Given the description of an element on the screen output the (x, y) to click on. 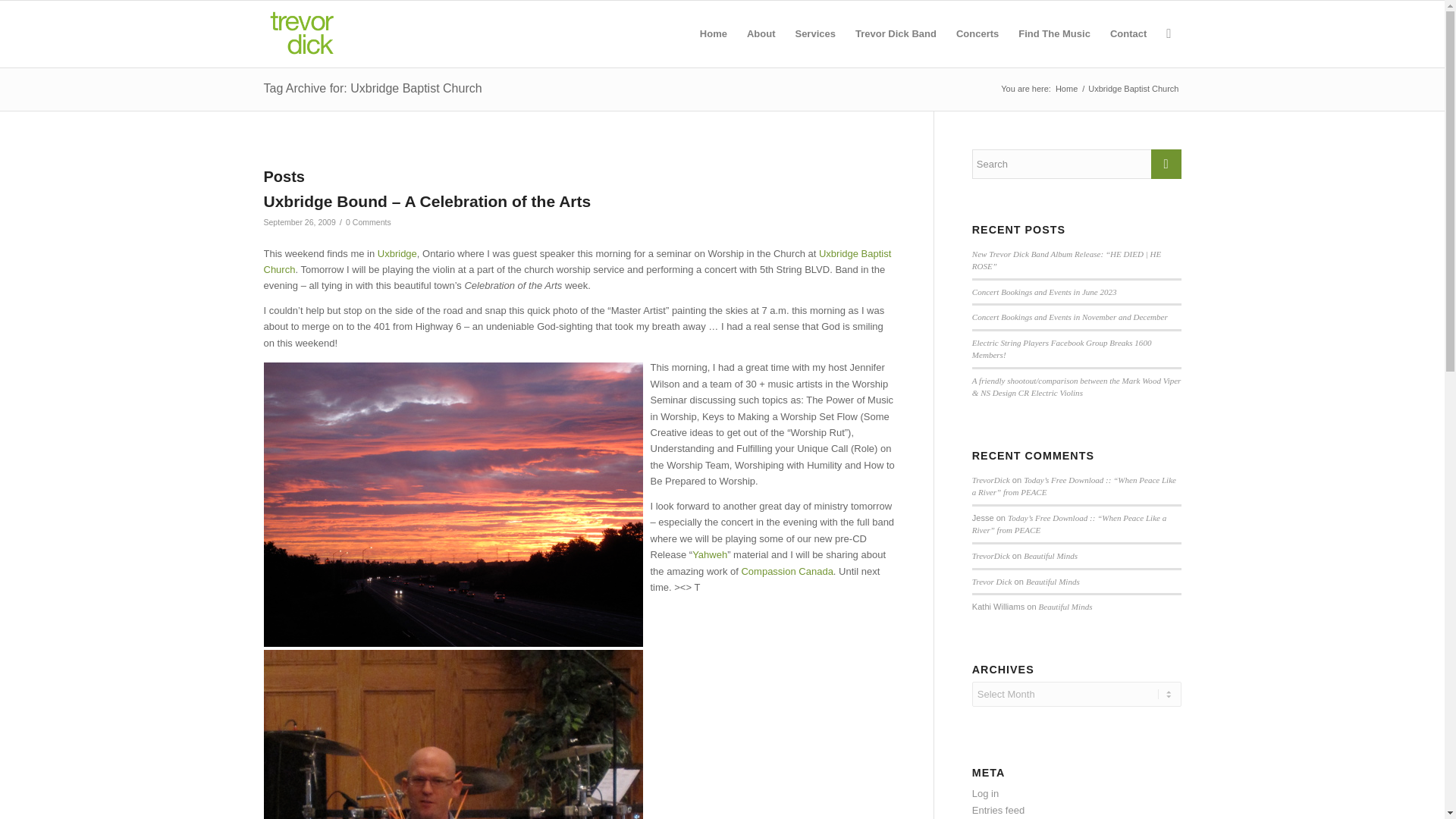
trevordick.com (1066, 89)
Compassion Canada (786, 571)
Concert Bookings and Events in June 2023 (1044, 291)
Tag Archive for: Uxbridge Baptist Church (372, 88)
Permanent Link: Tag Archive for: Uxbridge Baptist Church (372, 88)
Trevor Dick Band (895, 33)
TrevorDick (991, 555)
Services (814, 33)
Uxbridge (396, 253)
SiteLogo (336, 33)
